Given the description of an element on the screen output the (x, y) to click on. 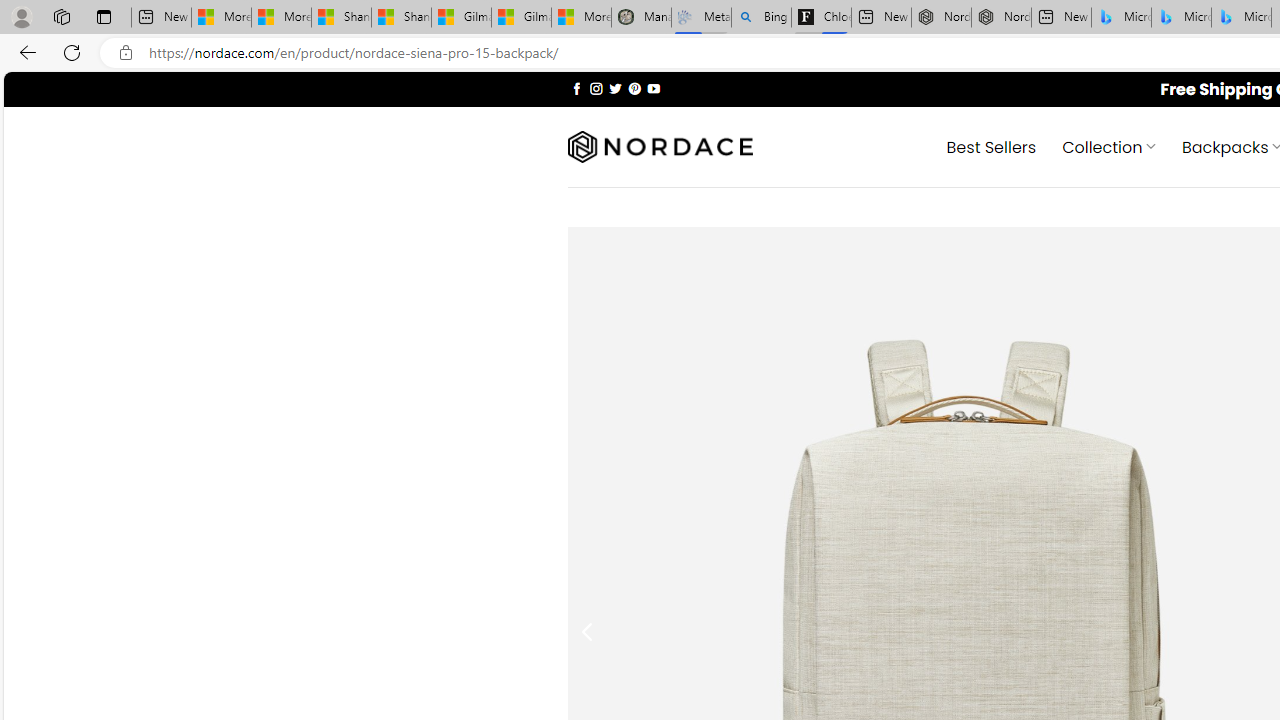
Microsoft Bing Travel - Stays in Bangkok, Bangkok, Thailand (1181, 17)
Follow on YouTube (653, 88)
Follow on Twitter (615, 88)
  Best Sellers (990, 146)
Gilma and Hector both pose tropical trouble for Hawaii (521, 17)
Follow on Pinterest (634, 88)
